Given the description of an element on the screen output the (x, y) to click on. 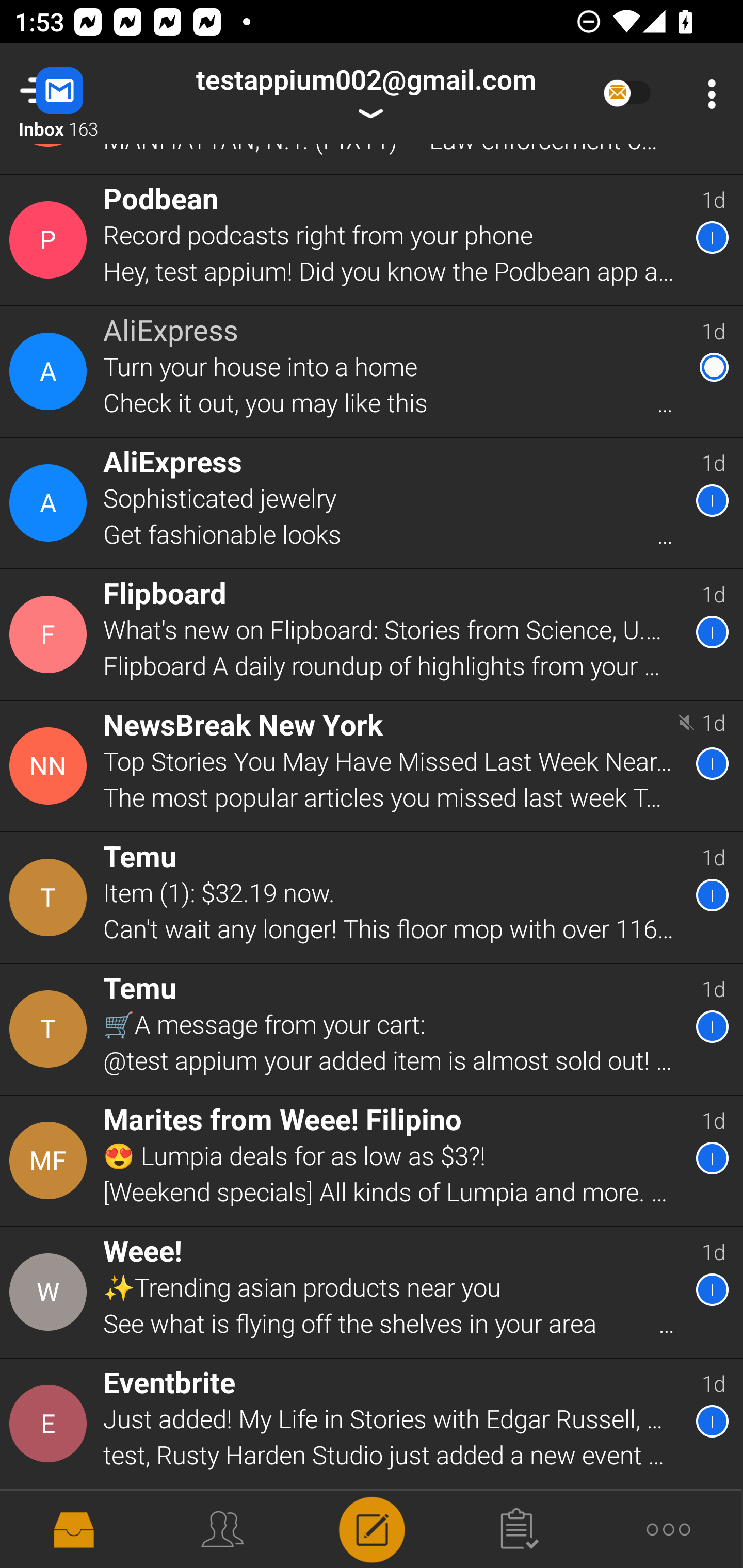
Navigate up (81, 93)
testappium002@gmail.com (365, 93)
More Options (706, 93)
Contact Details (50, 240)
Contact Details (50, 371)
Contact Details (50, 502)
Contact Details (50, 634)
Contact Details (50, 765)
Contact Details (50, 897)
Contact Details (50, 1029)
Contact Details (50, 1161)
Contact Details (50, 1292)
Contact Details (50, 1423)
Compose (371, 1528)
